Given the description of an element on the screen output the (x, y) to click on. 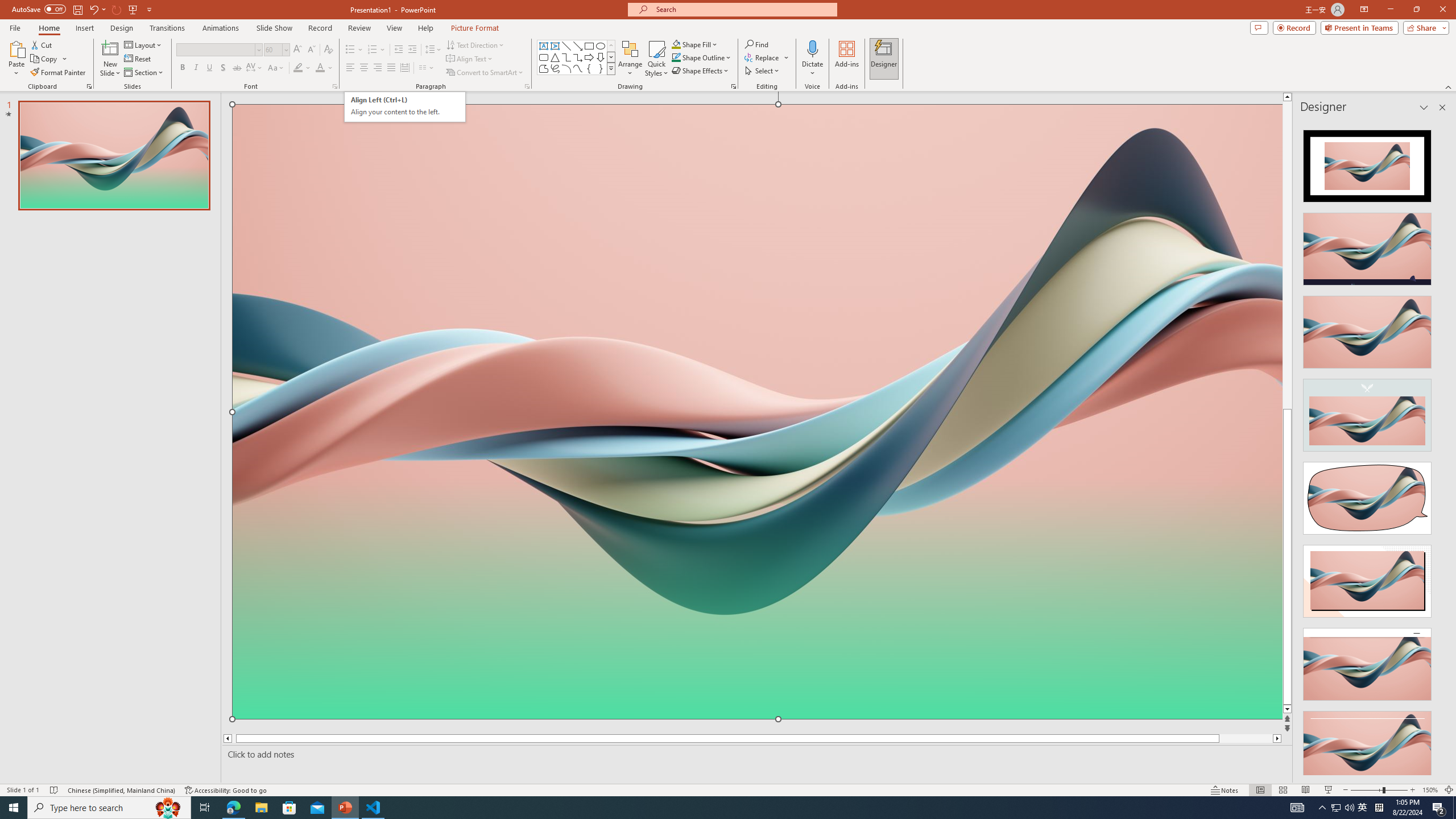
Picture Format (475, 28)
